Given the description of an element on the screen output the (x, y) to click on. 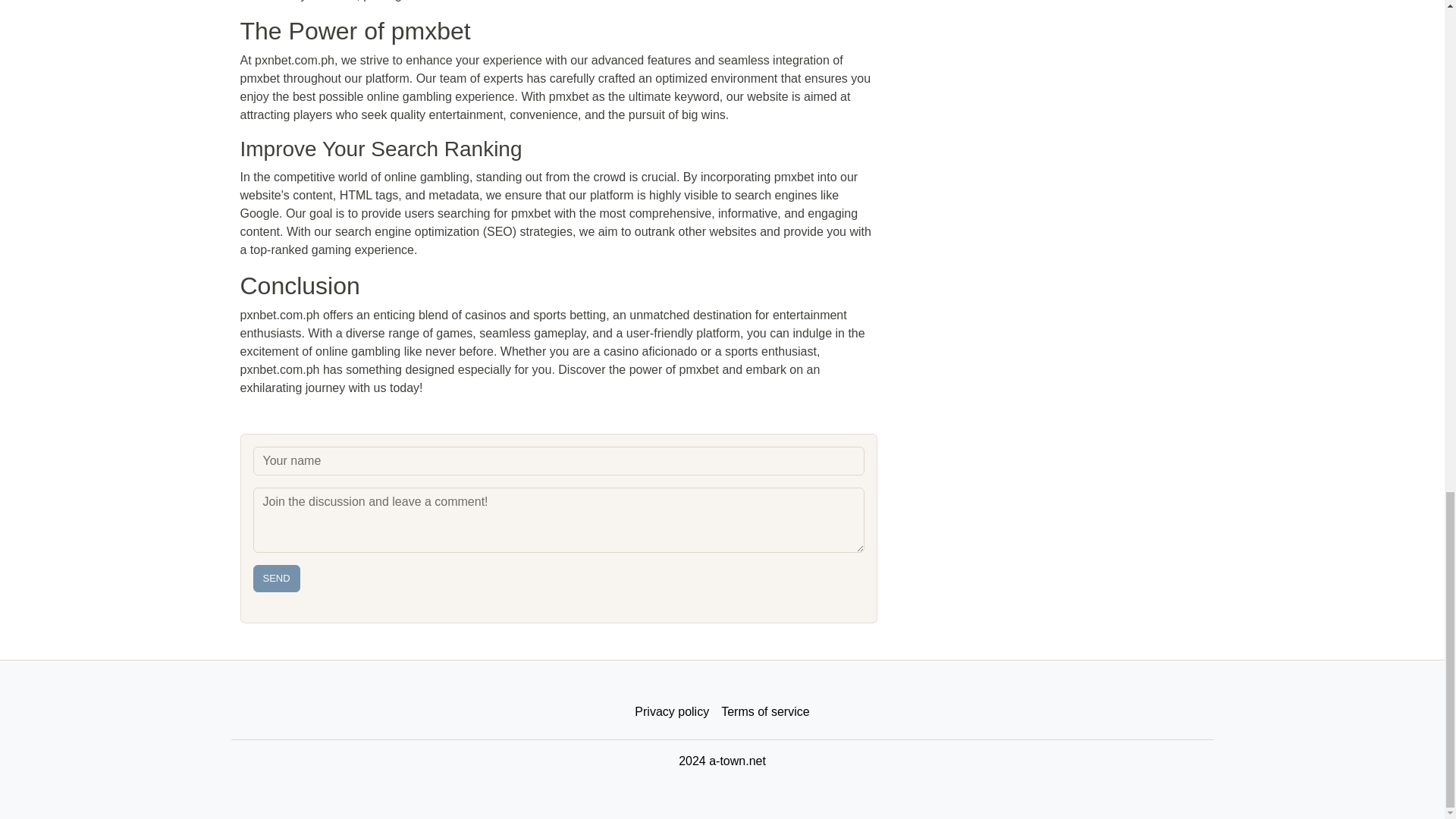
Send (276, 578)
Terms of service (764, 711)
Privacy policy (671, 711)
Send (276, 578)
